Given the description of an element on the screen output the (x, y) to click on. 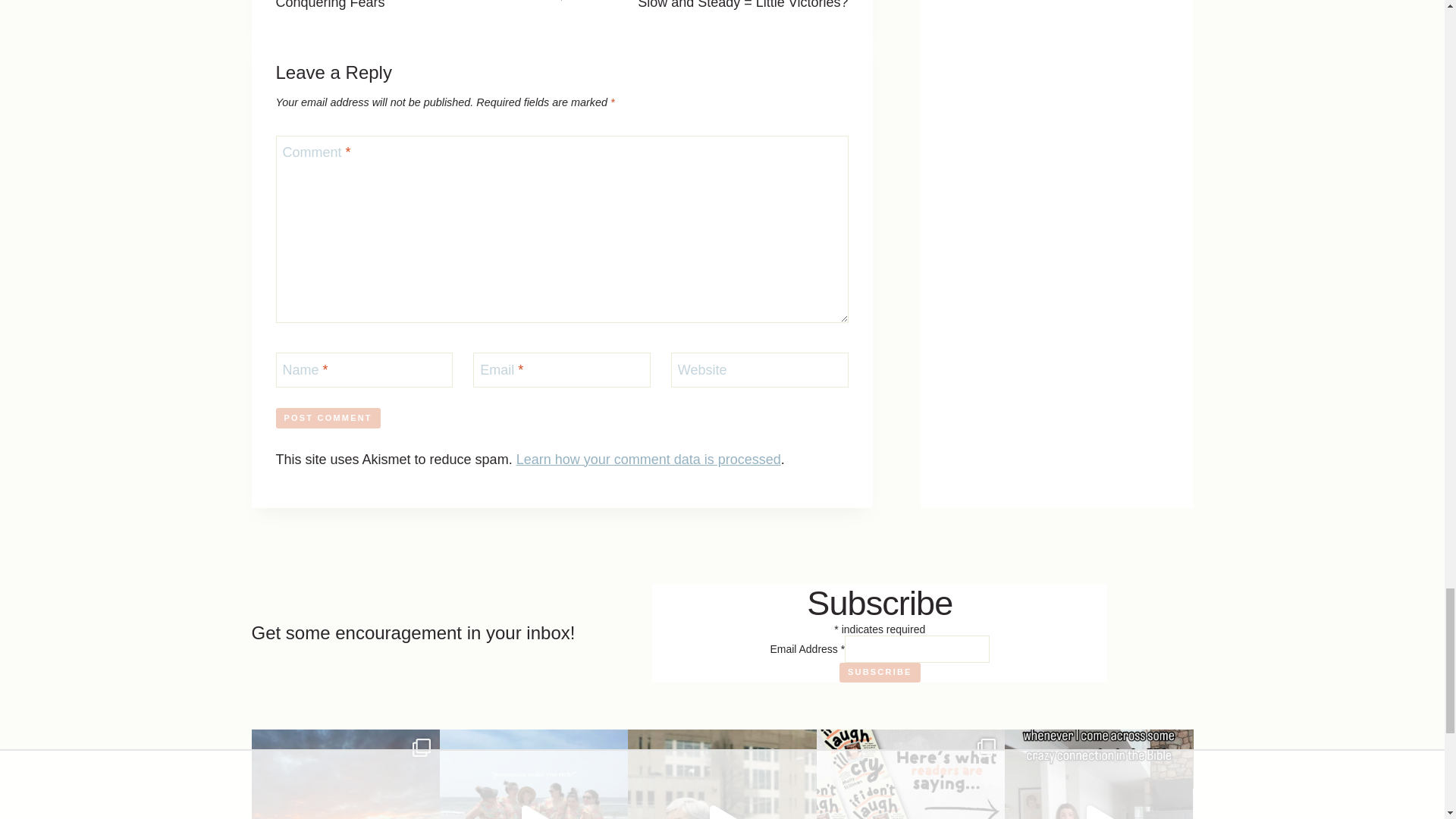
Post Comment (328, 417)
Subscribe (419, 6)
Post Comment (880, 672)
